Given the description of an element on the screen output the (x, y) to click on. 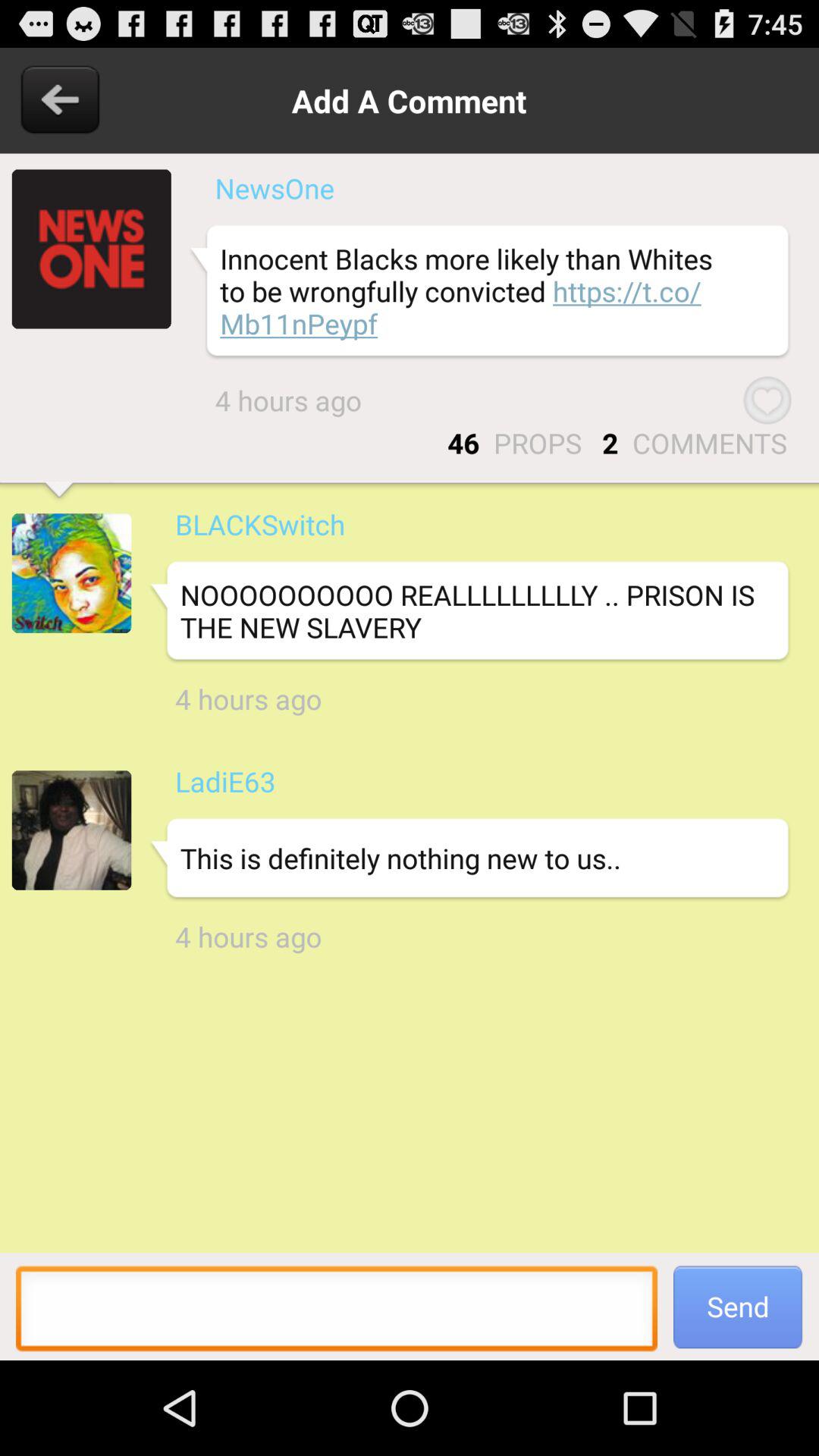
view user (71, 573)
